Given the description of an element on the screen output the (x, y) to click on. 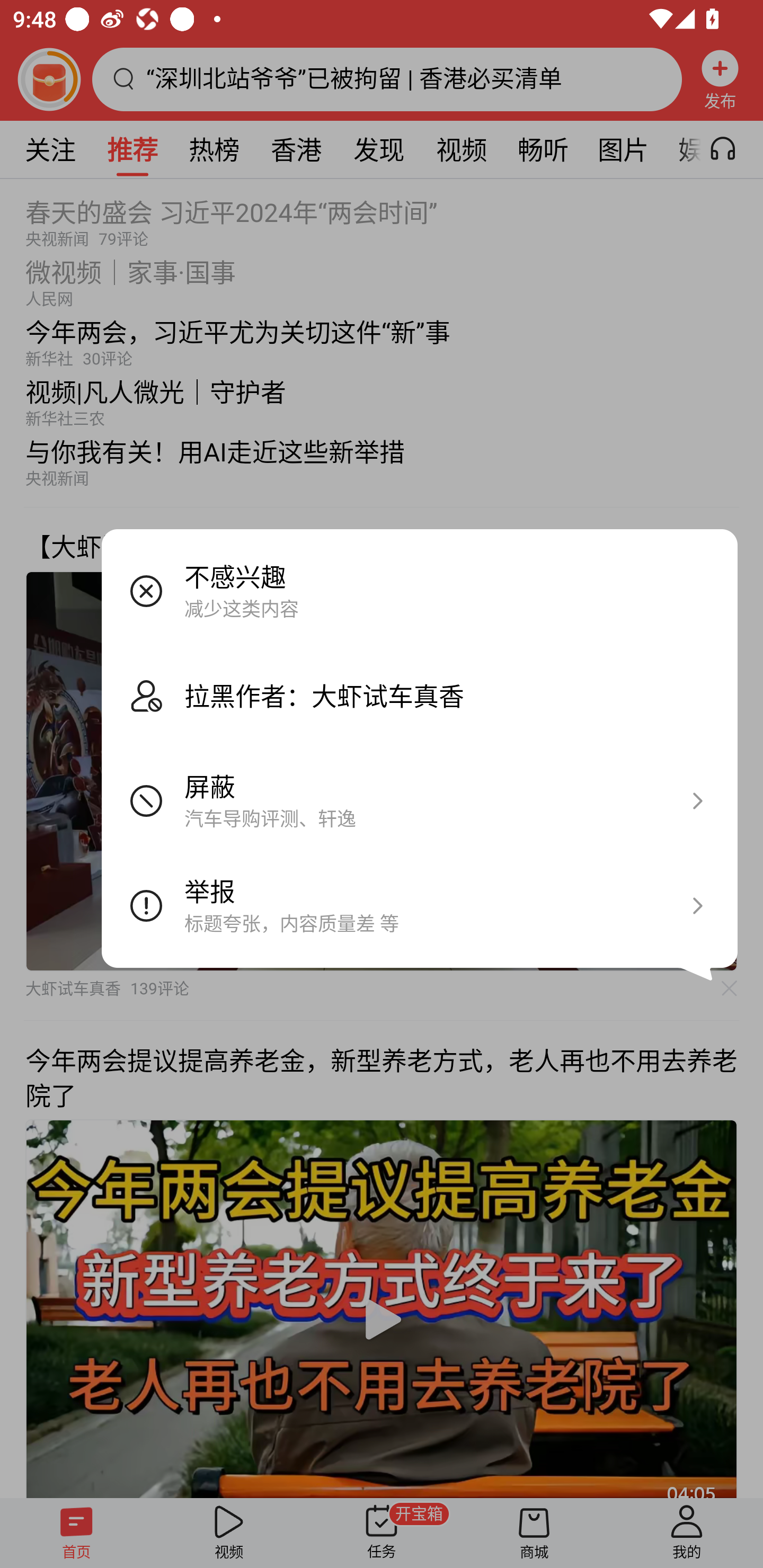
不感兴趣 减少这类内容 (419, 590)
拉黑作者：大虾试车真香 (419, 694)
屏蔽 汽车导购评测、轩逸 (419, 799)
举报 标题夸张，内容质量差 等 (419, 905)
